Given the description of an element on the screen output the (x, y) to click on. 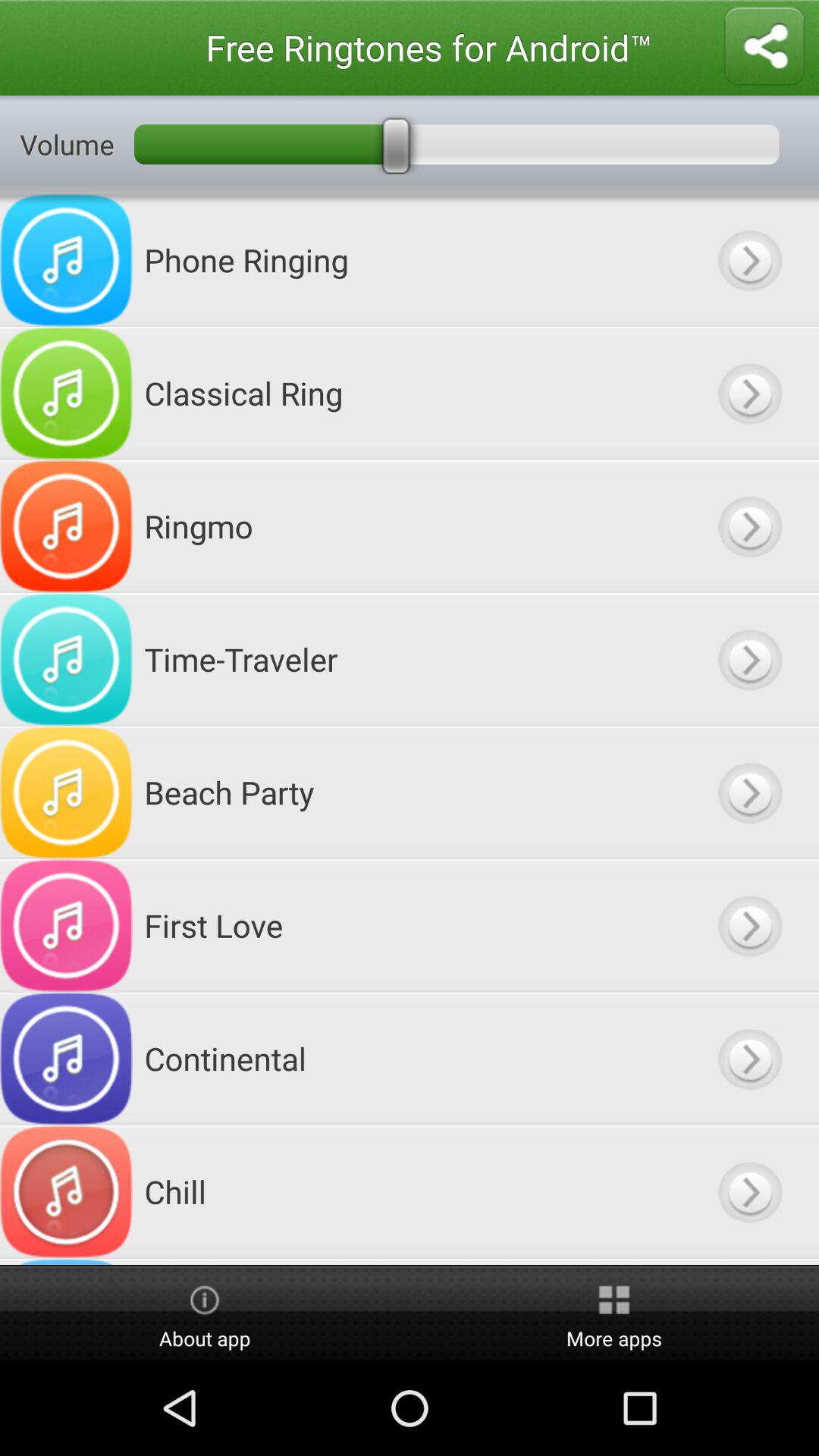
free ringtones chill option (749, 1191)
